Given the description of an element on the screen output the (x, y) to click on. 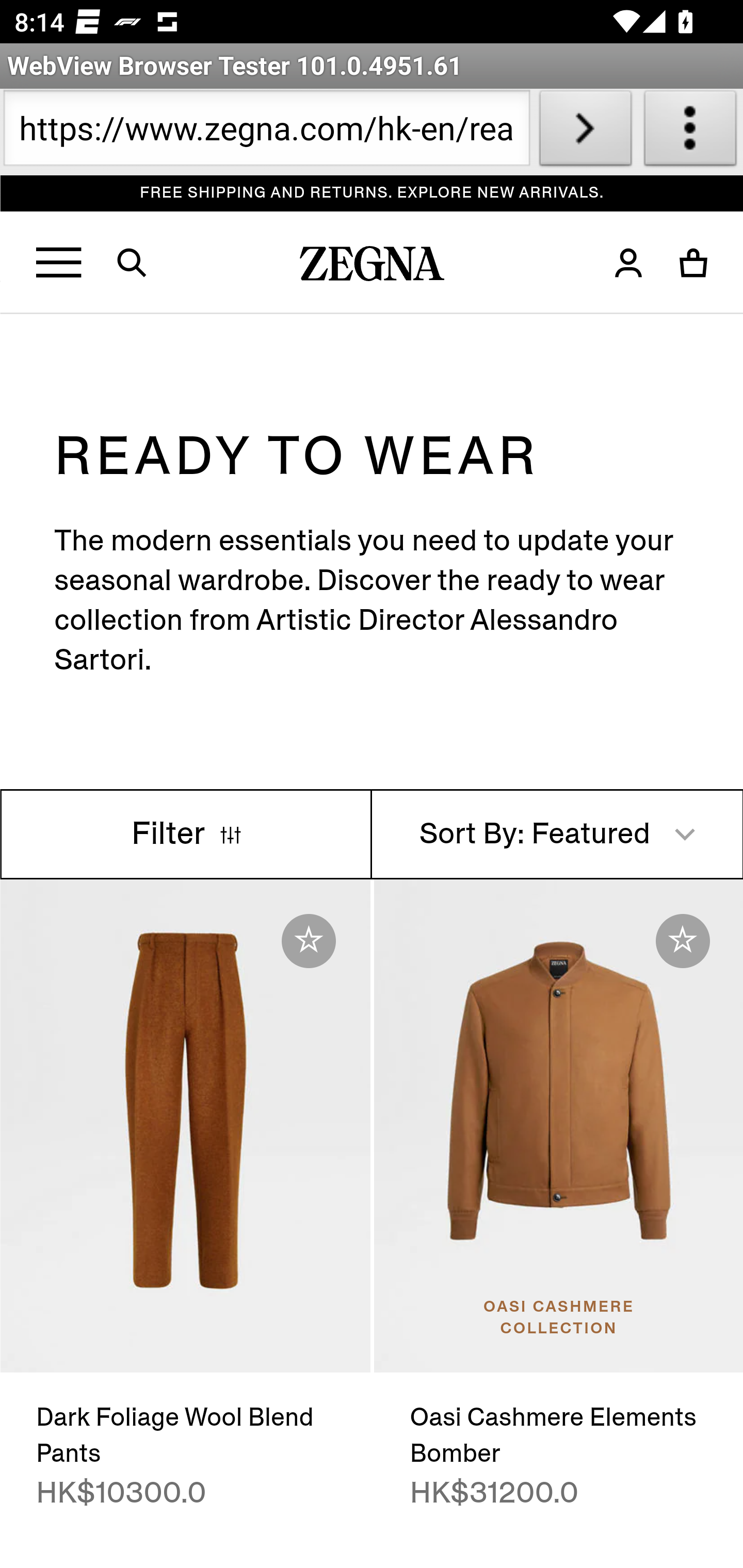
Load URL (585, 132)
About WebView (690, 132)
FREE SHIPPING AND RETURNS. EXPLORE NEW ARRIVALS. (372, 192)
Search (144, 263)
Open Website Menu  (59, 262)
Zegna Homepage (372, 267)
Account Access  (628, 262)
Open Cart Empty  (694, 262)
Filter  (186, 834)
Sort By: Featured  (557, 834)
Dark Foliage Wool Blend Pants (186, 1126)
Oasi Cashmere Elements Bomber (557, 1126)
Add To Wishlist Dark Foliage Wool Blend Pants  (309, 940)
Add To Wishlist Oasi Cashmere Elements Bomber  (682, 940)
